Given the description of an element on the screen output the (x, y) to click on. 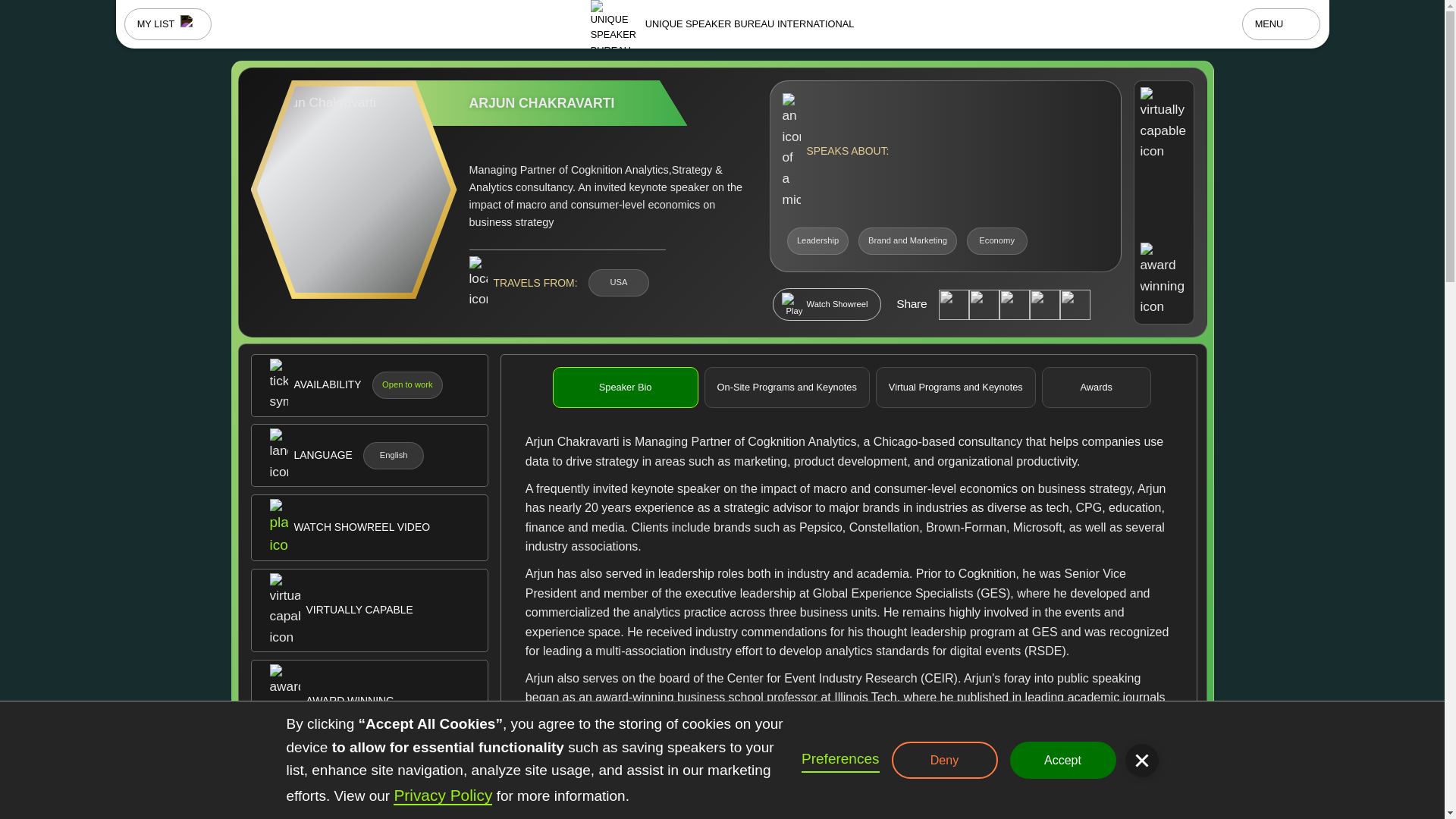
Deny (944, 760)
UNIQUE SPEAKER BUREAU INTERNATIONAL (722, 24)
Preferences (840, 759)
CHECK AVAILABILITY (368, 782)
Accept (1063, 760)
WATCH SHOWREEL VIDEO (368, 527)
On-Site Programs and Keynotes (786, 386)
Watch Showreel (825, 304)
Speaker Bio (625, 386)
MY LIST (167, 24)
Privacy Policy (442, 795)
